Given the description of an element on the screen output the (x, y) to click on. 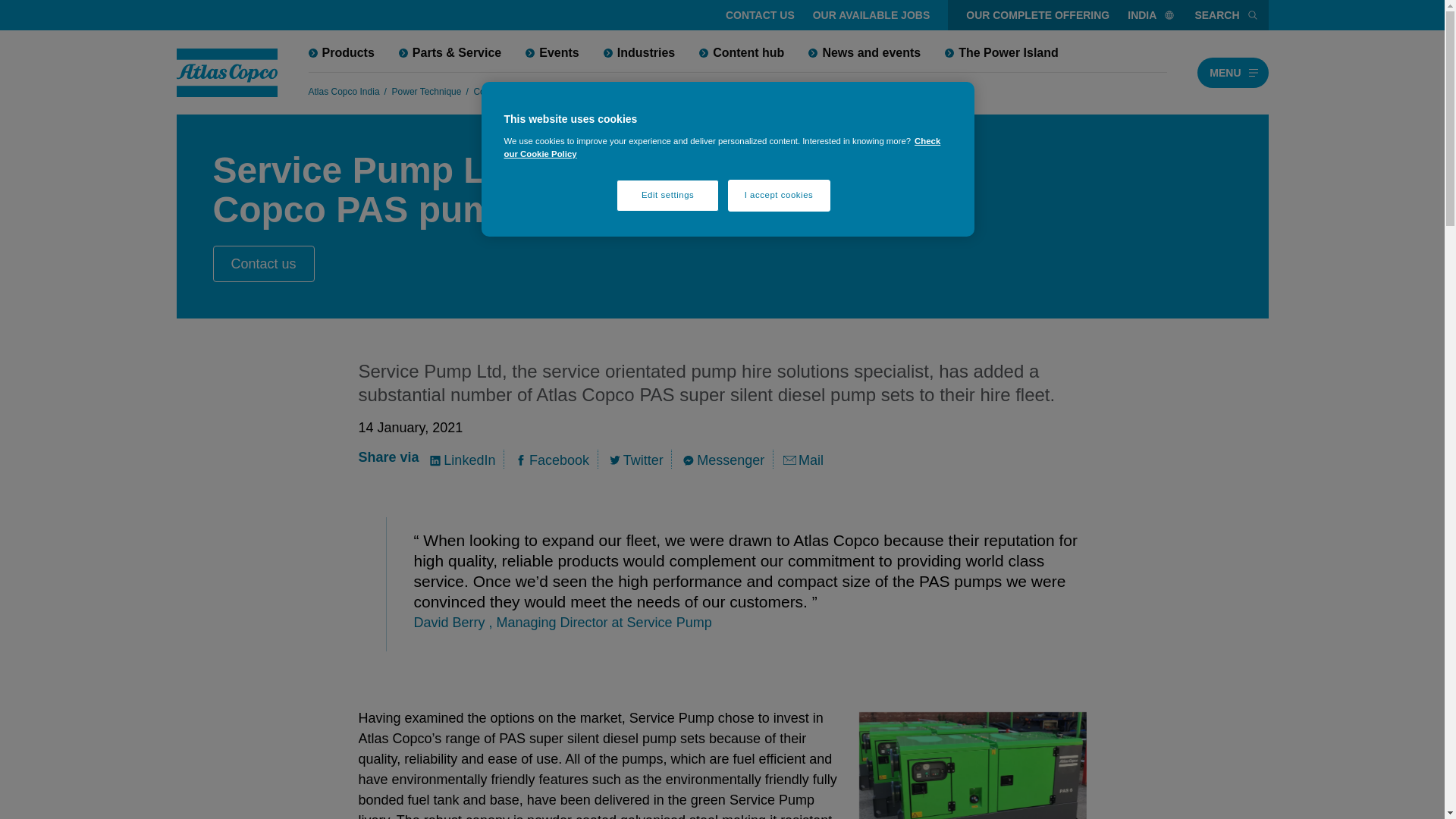
OUR AVAILABLE JOBS (871, 15)
Power Technique (426, 91)
Customer success stories (587, 91)
Industries (639, 52)
CONTACT US (759, 15)
INDIA (1151, 15)
The Power Island (1001, 52)
Events (552, 52)
Products (340, 52)
Atlas Copco India (342, 91)
OUR COMPLETE OFFERING (1037, 15)
MENU (1232, 72)
AtlasCopco Logo (227, 72)
Content hub (741, 52)
Content hub (497, 91)
